Given the description of an element on the screen output the (x, y) to click on. 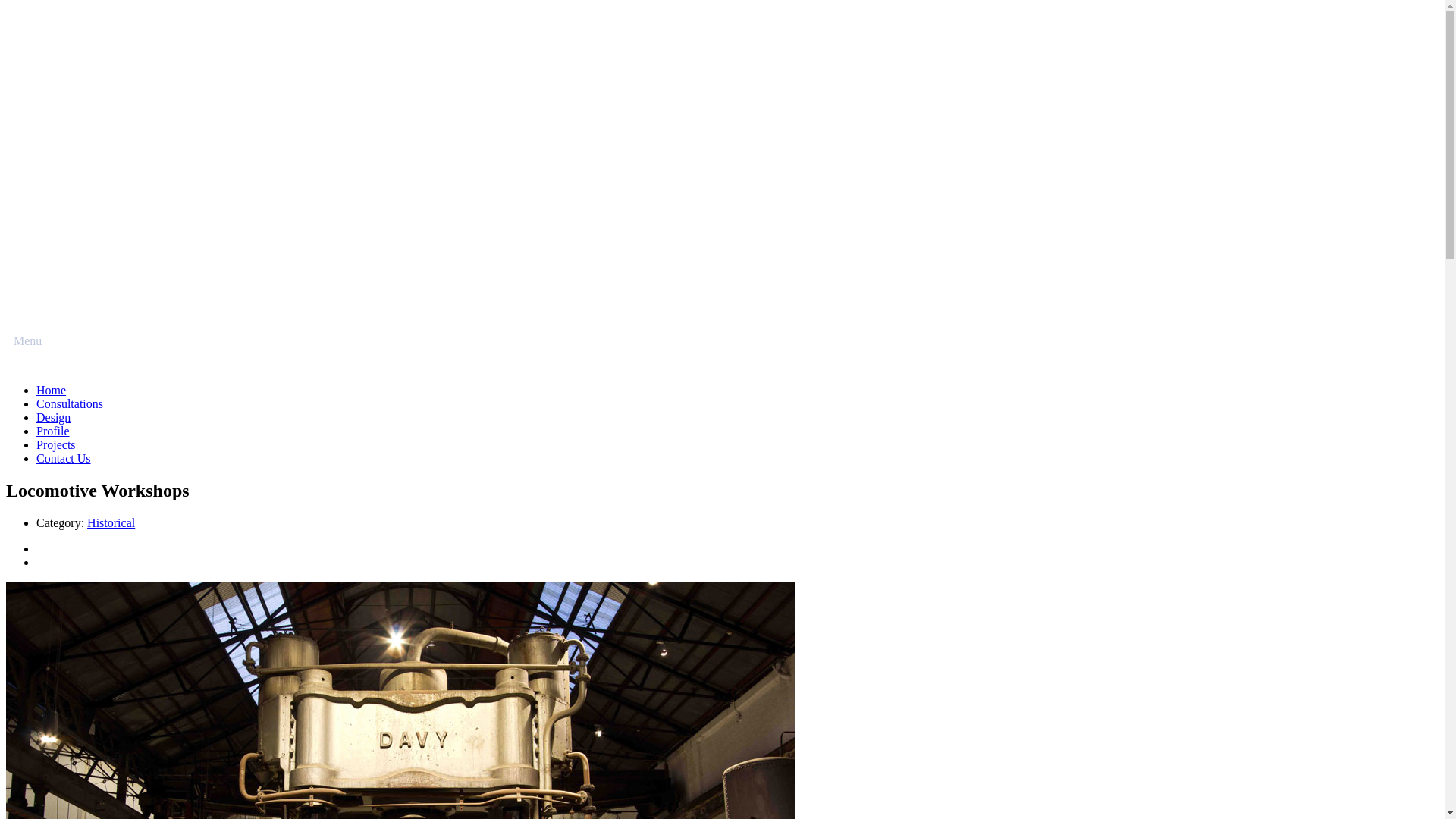
Profile Element type: text (52, 430)
Historical Element type: text (110, 522)
Consultations Element type: text (69, 403)
Design Element type: text (53, 417)
Projects Element type: text (55, 444)
Contact Us Element type: text (63, 457)
Menu Element type: text (23, 340)
ALD Element type: hover (722, 303)
Home Element type: text (50, 389)
